Given the description of an element on the screen output the (x, y) to click on. 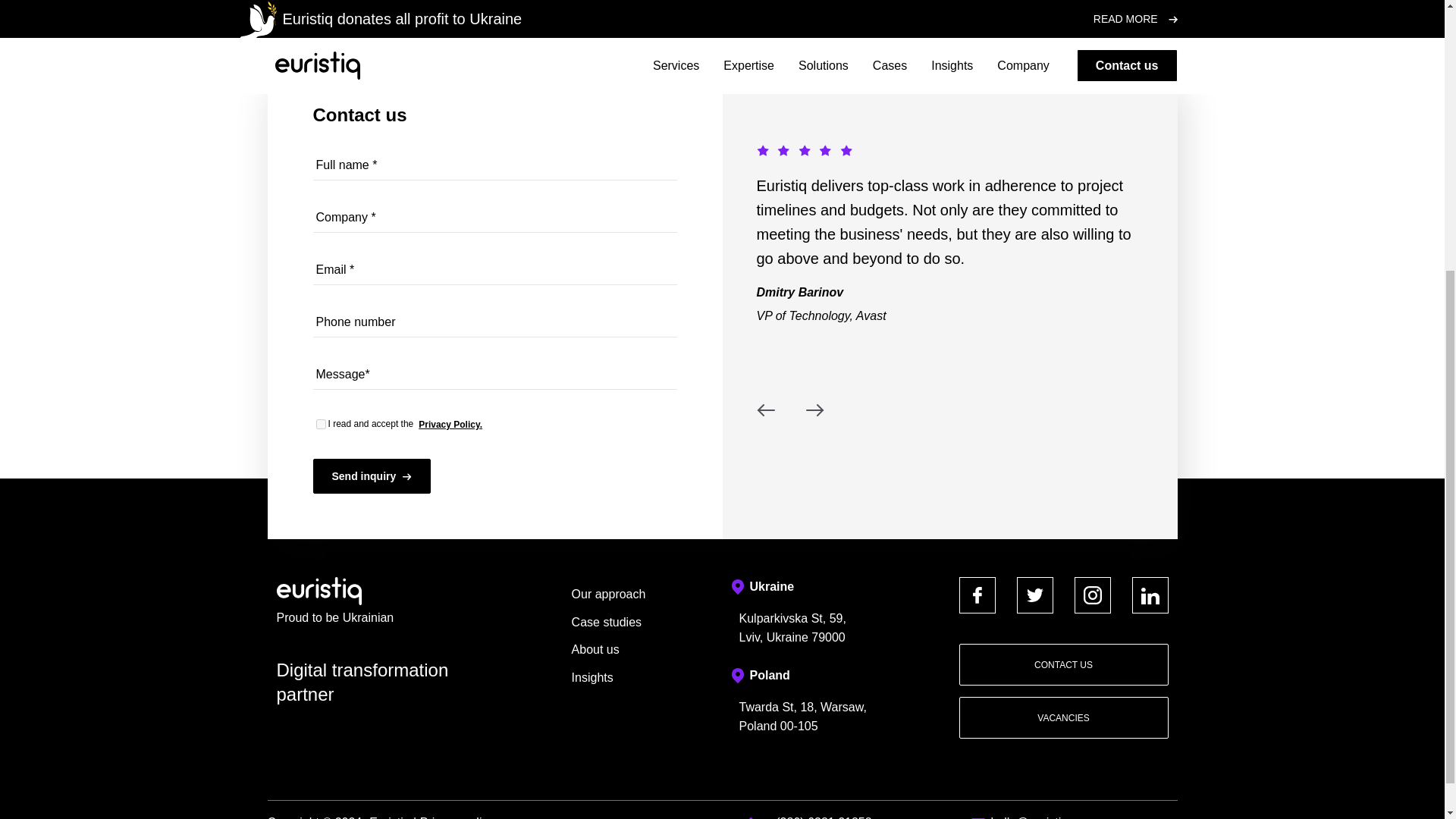
Send inquiry (371, 475)
Privacy Policy. (450, 424)
I read and accept the (319, 424)
Next (814, 410)
Previous (765, 410)
